Given the description of an element on the screen output the (x, y) to click on. 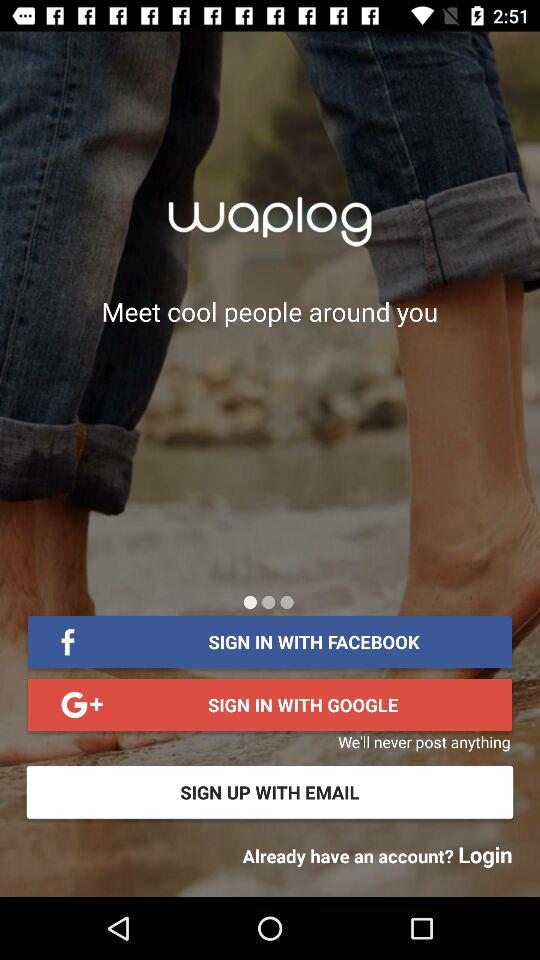
next page (268, 602)
